Given the description of an element on the screen output the (x, y) to click on. 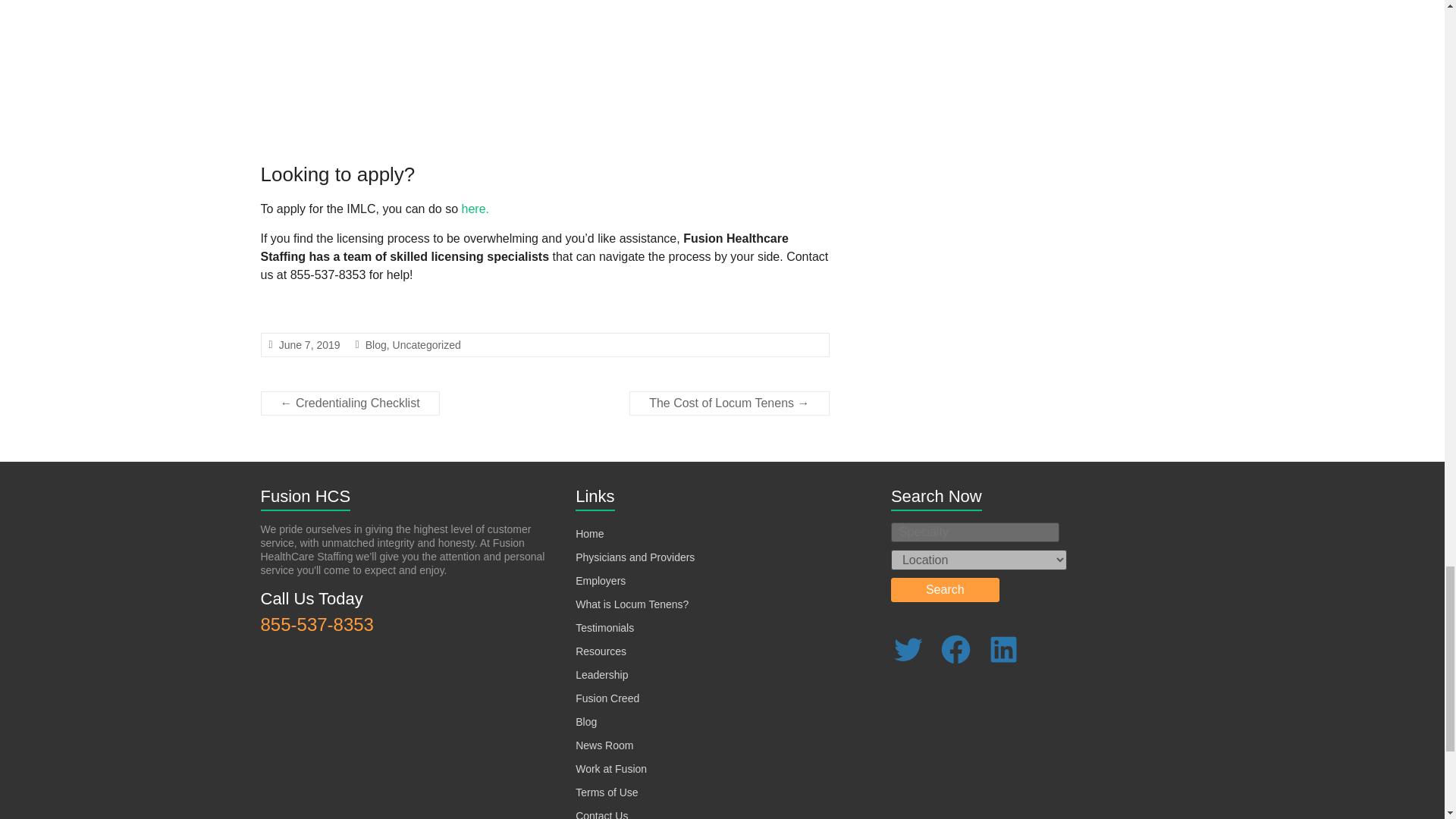
Leadership (601, 674)
Search (944, 589)
Terms of Use (606, 792)
Uncategorized (427, 345)
Physicians and Providers (634, 557)
Testimonials (604, 627)
Work at Fusion (610, 768)
News Room (604, 745)
Home (589, 533)
8:51 pm (309, 345)
855-537-8353 (317, 624)
Resources (600, 651)
Blog (585, 721)
here. (475, 208)
Employers (600, 580)
